Given the description of an element on the screen output the (x, y) to click on. 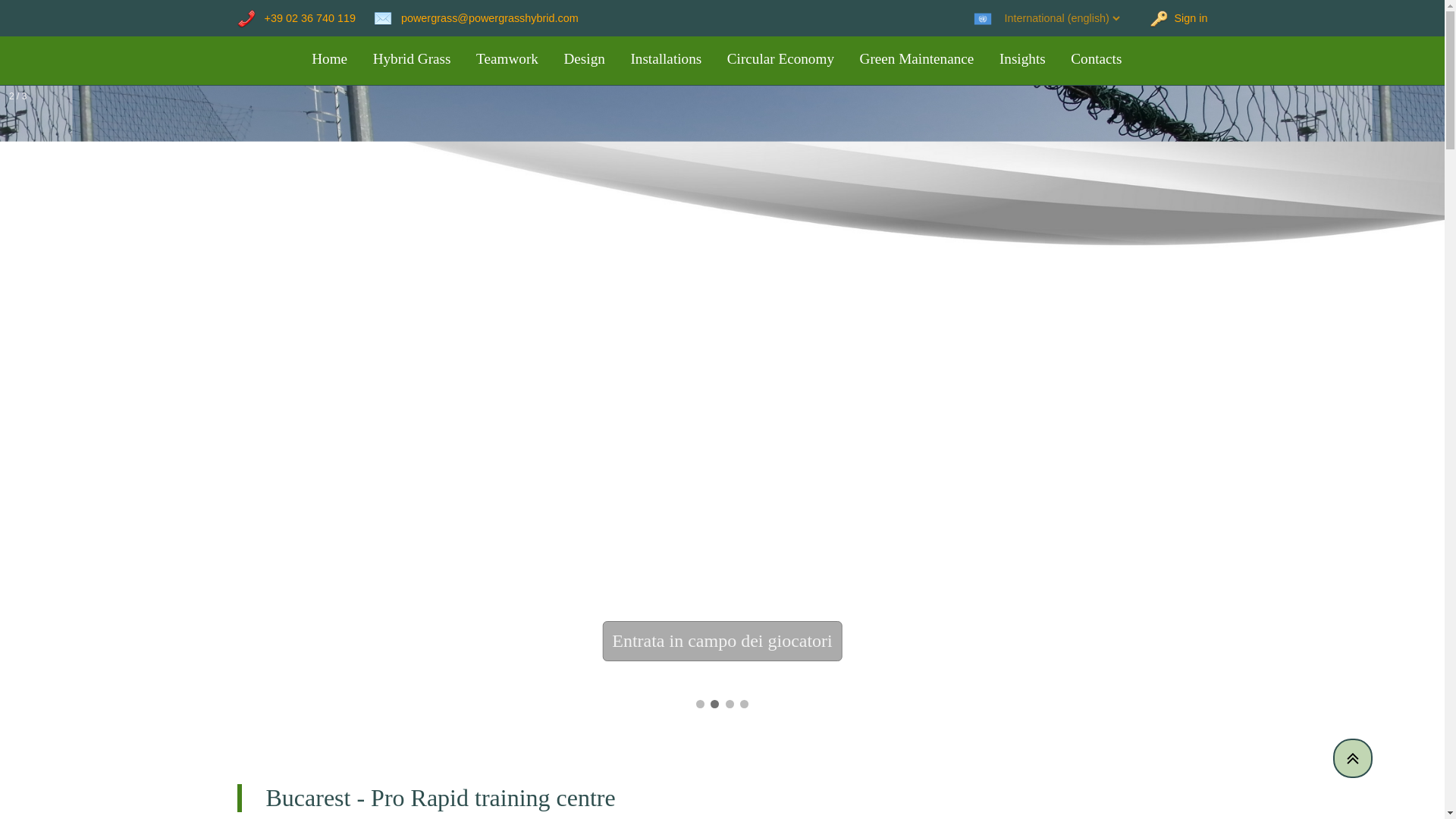
Insights (1022, 58)
Contacts (1095, 58)
Hybrid Grass (411, 58)
Insights (1022, 58)
Sign in (1166, 18)
Teamwork (507, 58)
Teamwork (507, 58)
Installations (666, 58)
Hybrid Grass (411, 58)
Sign in (1166, 18)
